Given the description of an element on the screen output the (x, y) to click on. 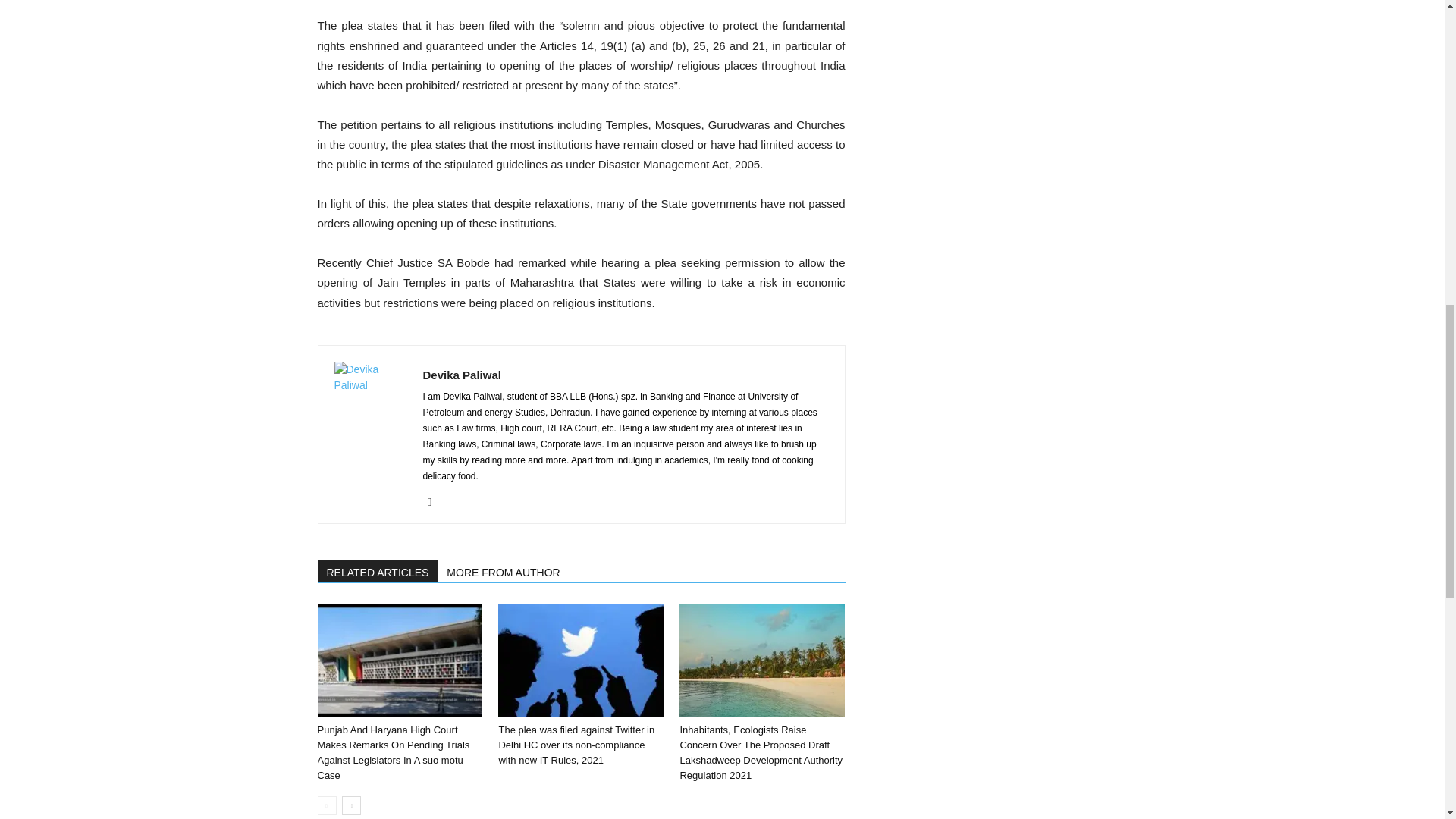
Linkedin (435, 502)
